Given the description of an element on the screen output the (x, y) to click on. 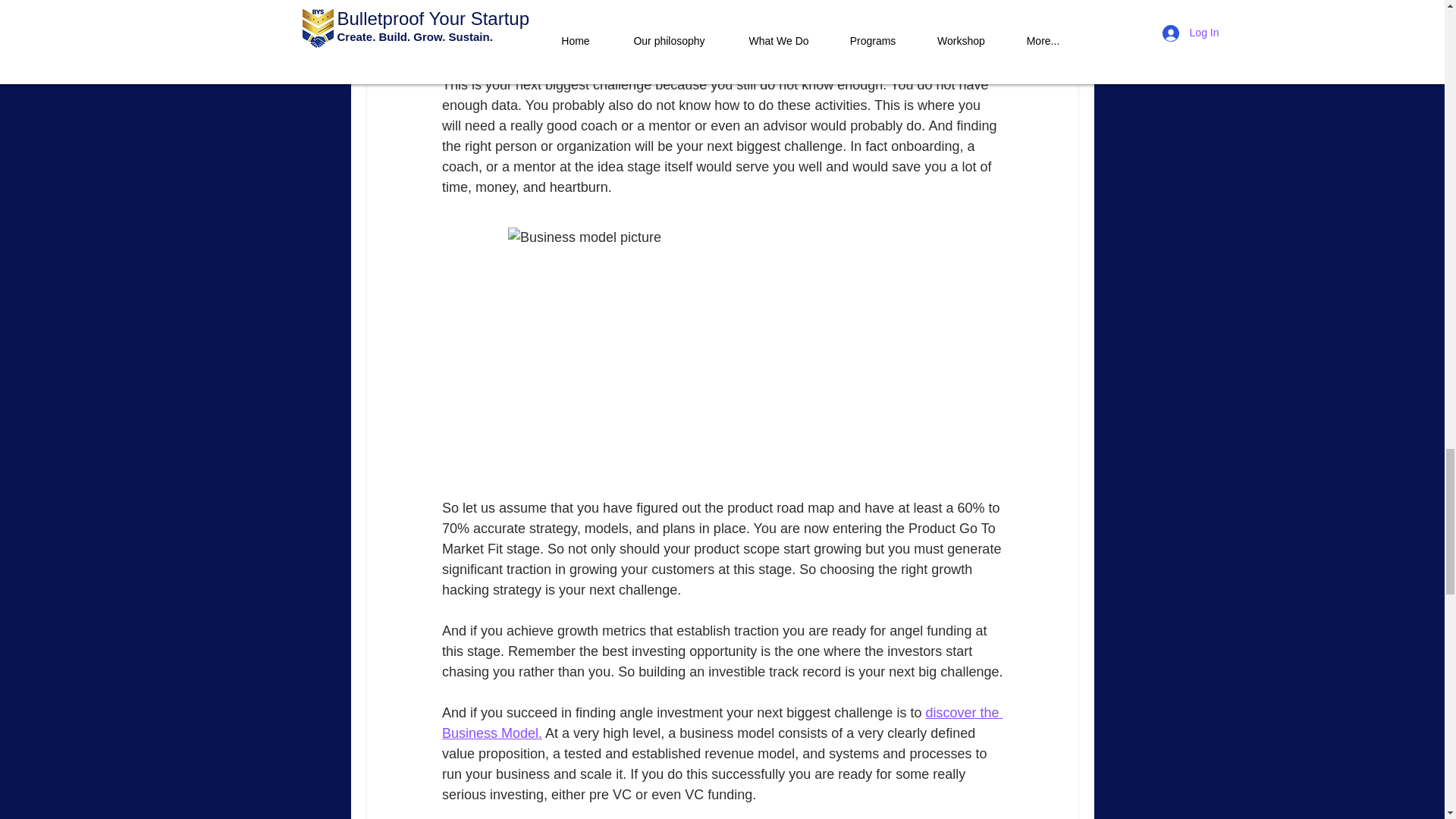
discover the Business Model. (721, 723)
Business Model (505, 5)
Revenue Model (505, 23)
Go to Market Strategy (524, 43)
